Given the description of an element on the screen output the (x, y) to click on. 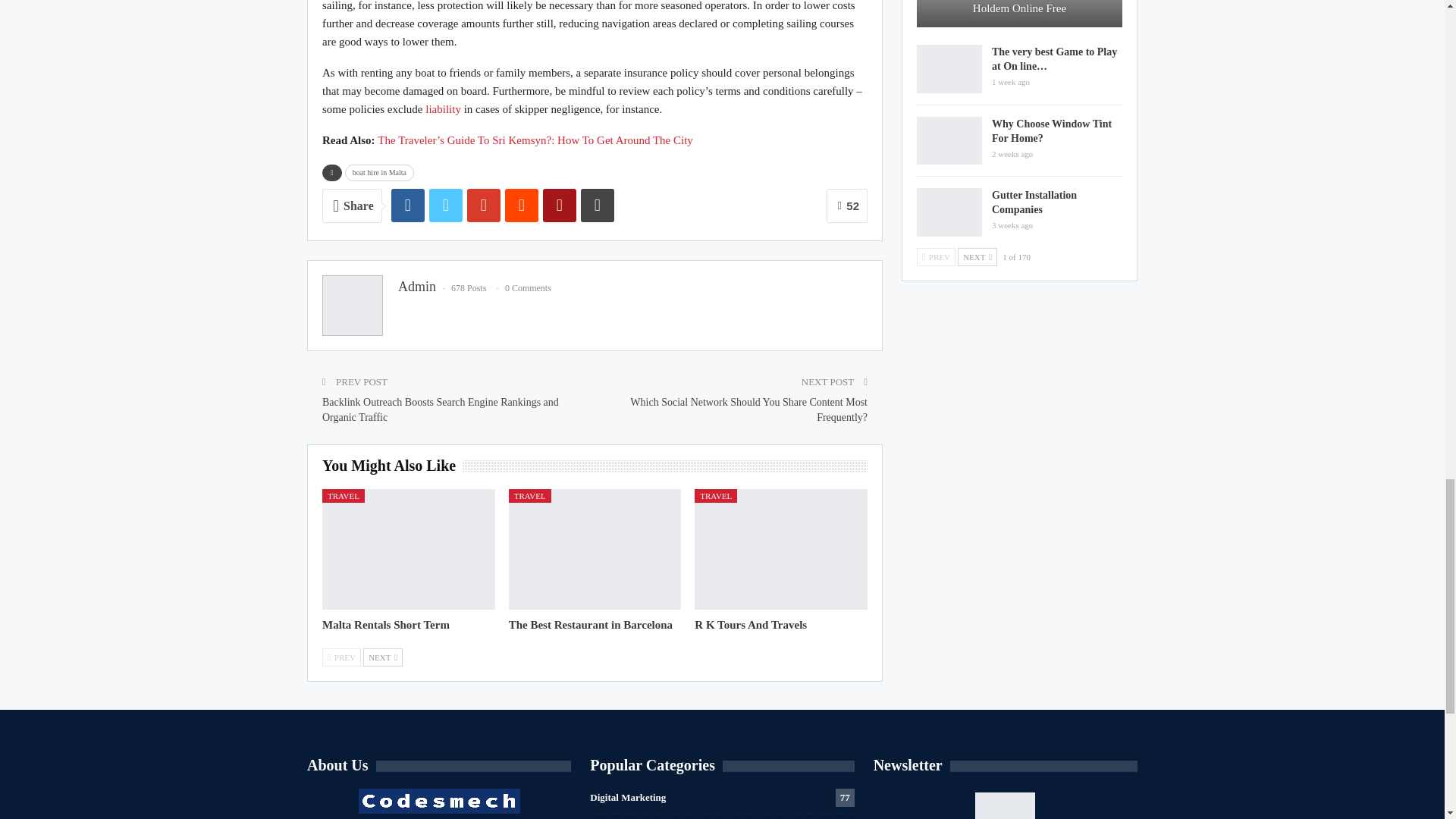
R K Tours And Travels (750, 624)
Next (382, 657)
The Best Restaurant in Barcelona (590, 624)
Previous (341, 657)
Malta Rentals Short Term (408, 548)
R K Tours And Travels (780, 548)
The Best Restaurant in Barcelona (594, 548)
Malta Rentals Short Term (385, 624)
